Given the description of an element on the screen output the (x, y) to click on. 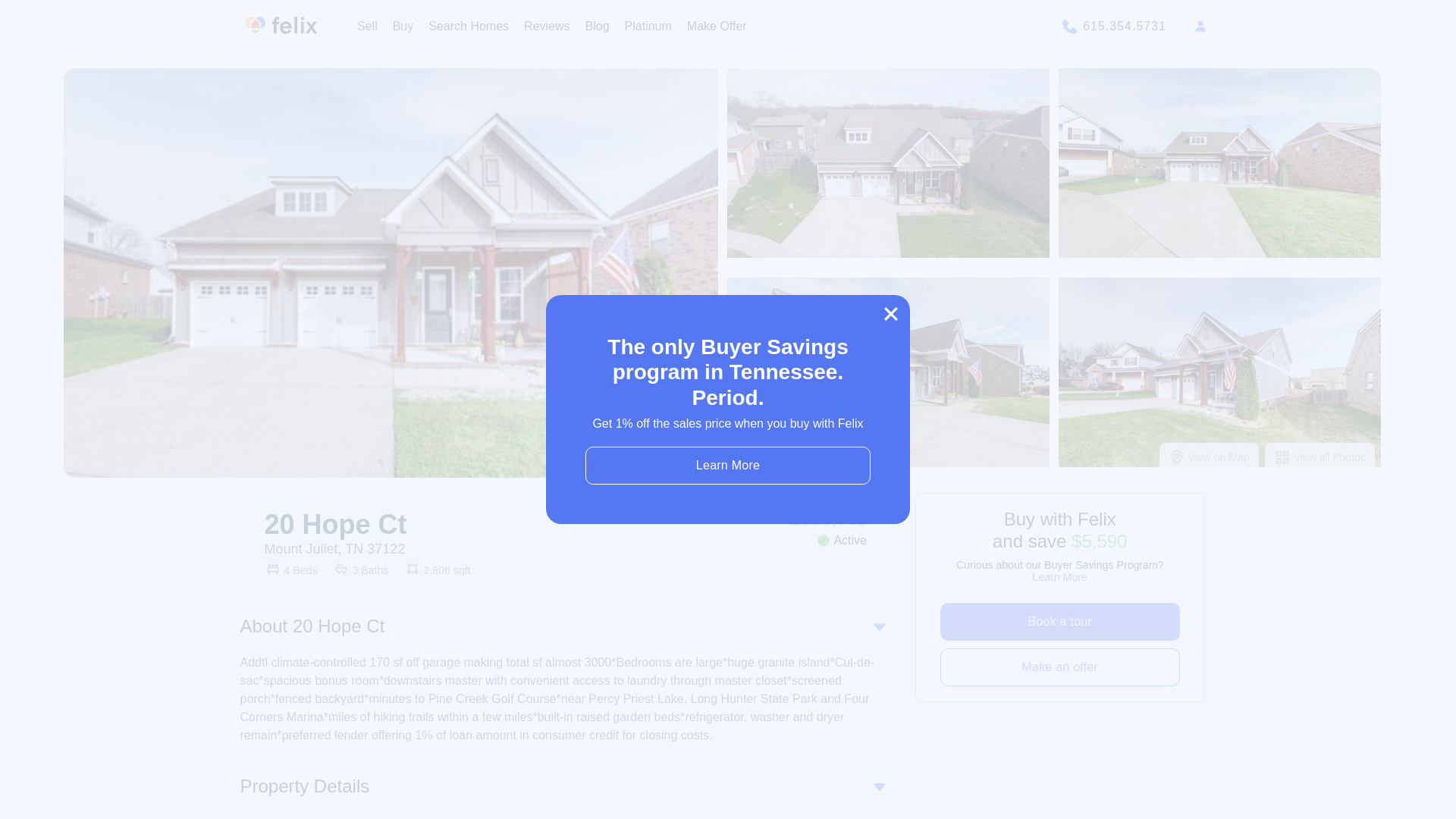
Platinum (647, 26)
Sell (366, 26)
Search Homes (468, 26)
View all Photos (1319, 457)
Make Offer (716, 26)
Learn More (1059, 576)
Reviews (546, 26)
Blog (597, 26)
View on Map (1208, 457)
615.354.5731 (1112, 26)
Make an offer (1059, 667)
Buy (403, 26)
Book a tour (1059, 621)
